Given the description of an element on the screen output the (x, y) to click on. 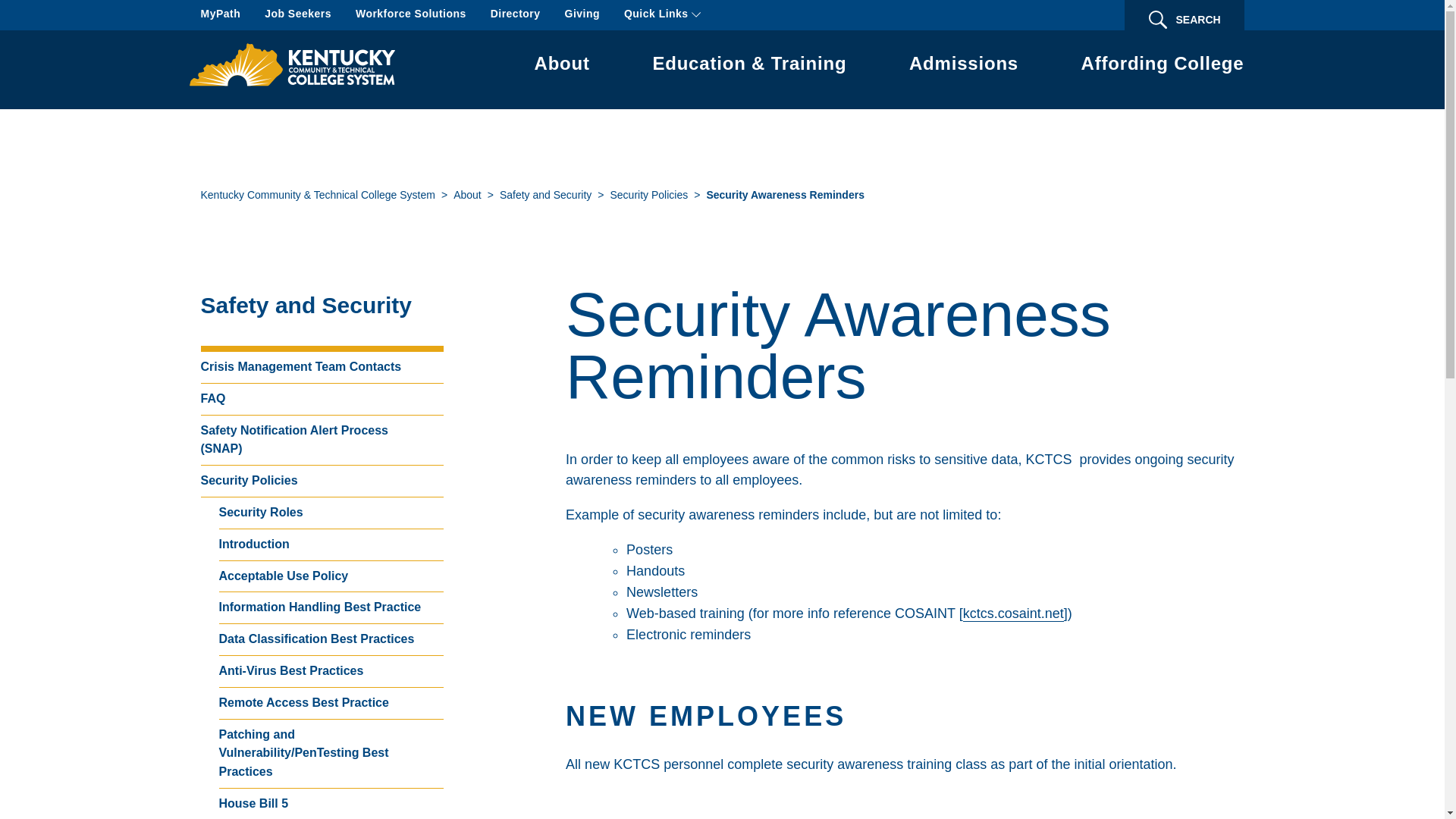
About (466, 195)
Acceptable Use Policy (330, 576)
Data Classification Best Practices (330, 640)
Directory (515, 14)
Admissions (962, 65)
FAQ (321, 399)
Workforce Solutions (410, 14)
Security Policies (648, 195)
Safety and Security (545, 195)
Job Seekers (297, 14)
